Given the description of an element on the screen output the (x, y) to click on. 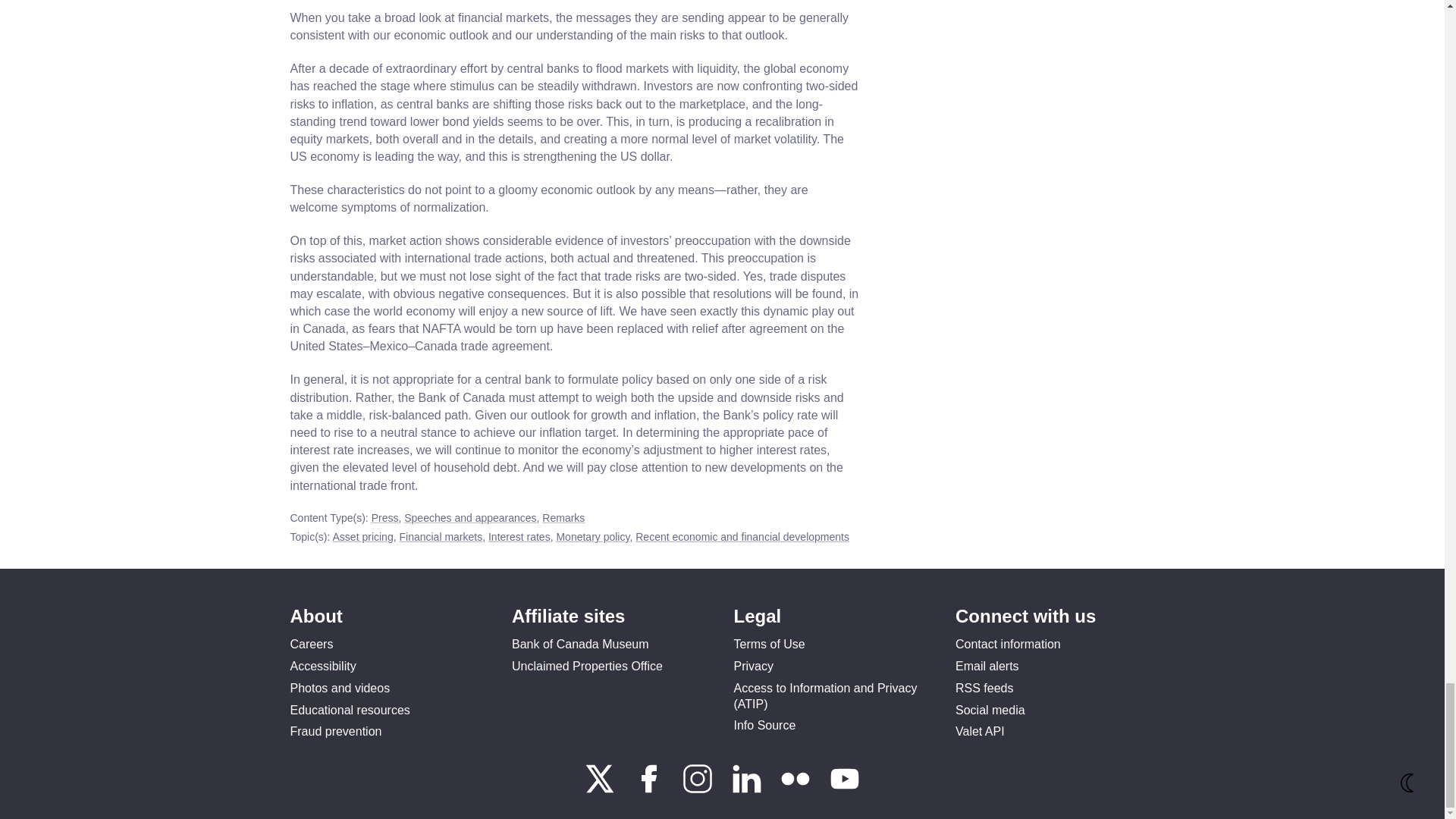
Connect with us on X (601, 789)
Connect with us on Facebook (650, 789)
Connect with us on Instagram (699, 789)
